Given the description of an element on the screen output the (x, y) to click on. 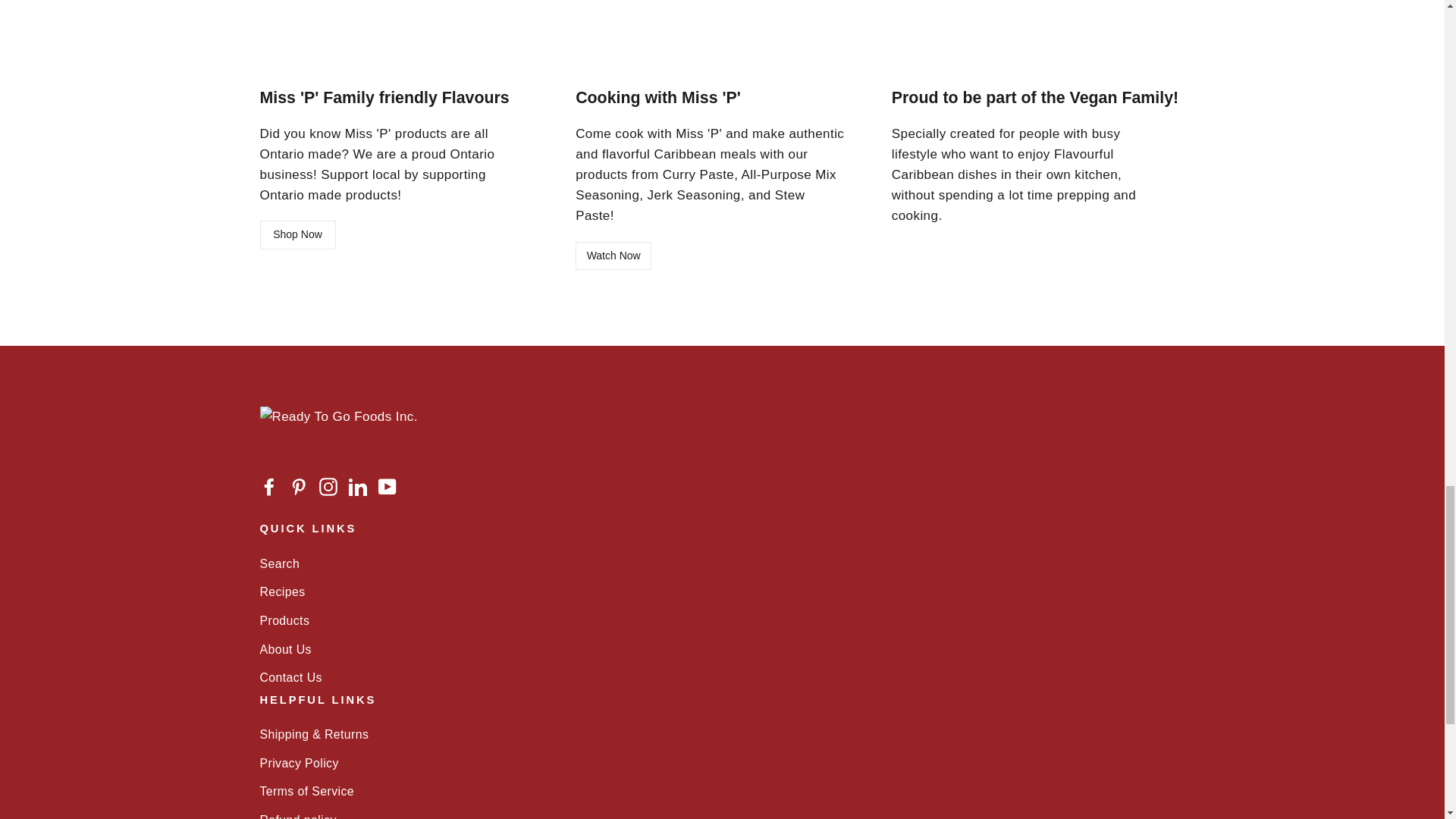
Ready To Go Foods Inc. on Pinterest (298, 485)
Ready To Go Foods Inc. on Instagram (327, 485)
Ready To Go Foods Inc. on LinkedIn (357, 485)
